Given the description of an element on the screen output the (x, y) to click on. 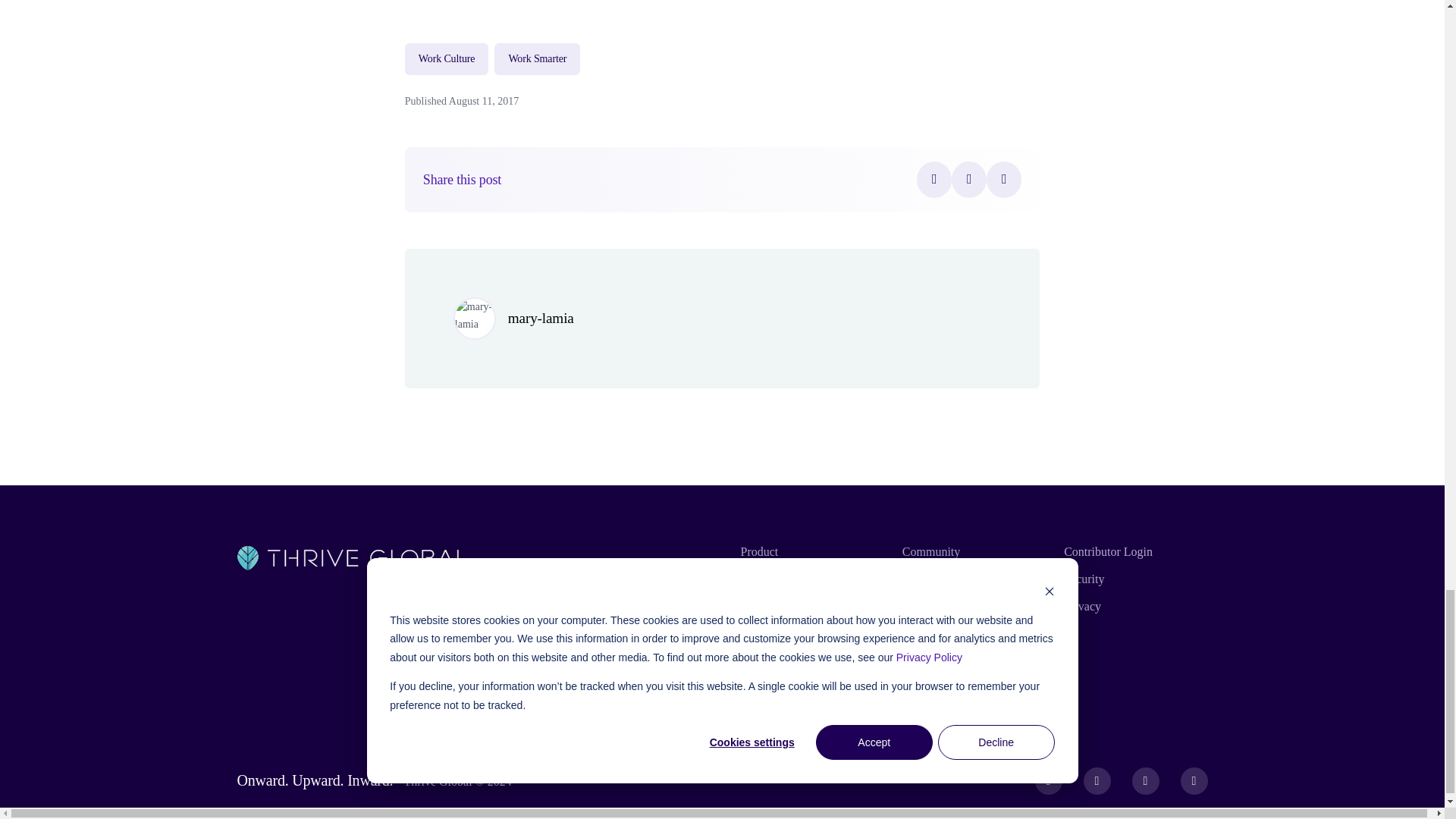
Twitter (969, 179)
mary-lamia (540, 317)
LinkedIn (1004, 179)
Facebook (934, 179)
